Given the description of an element on the screen output the (x, y) to click on. 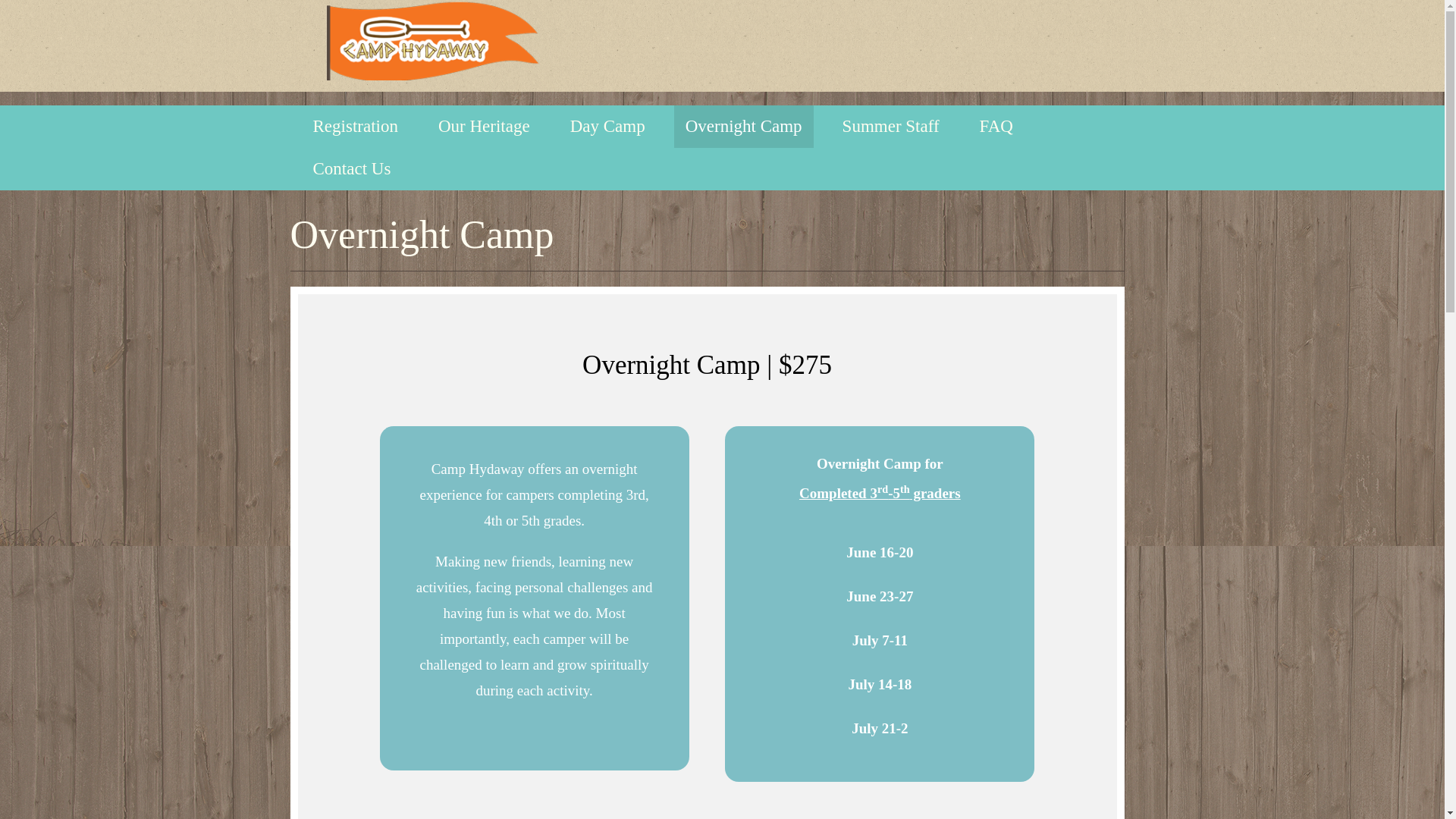
Summer Staff (890, 126)
FAQ (996, 126)
Summer Staff (890, 126)
Day Camp (607, 126)
Registration (355, 126)
Contact Us (352, 169)
Registration (355, 126)
Overnight Camp (743, 126)
Day Camp (607, 126)
Contact Us (352, 169)
